Given the description of an element on the screen output the (x, y) to click on. 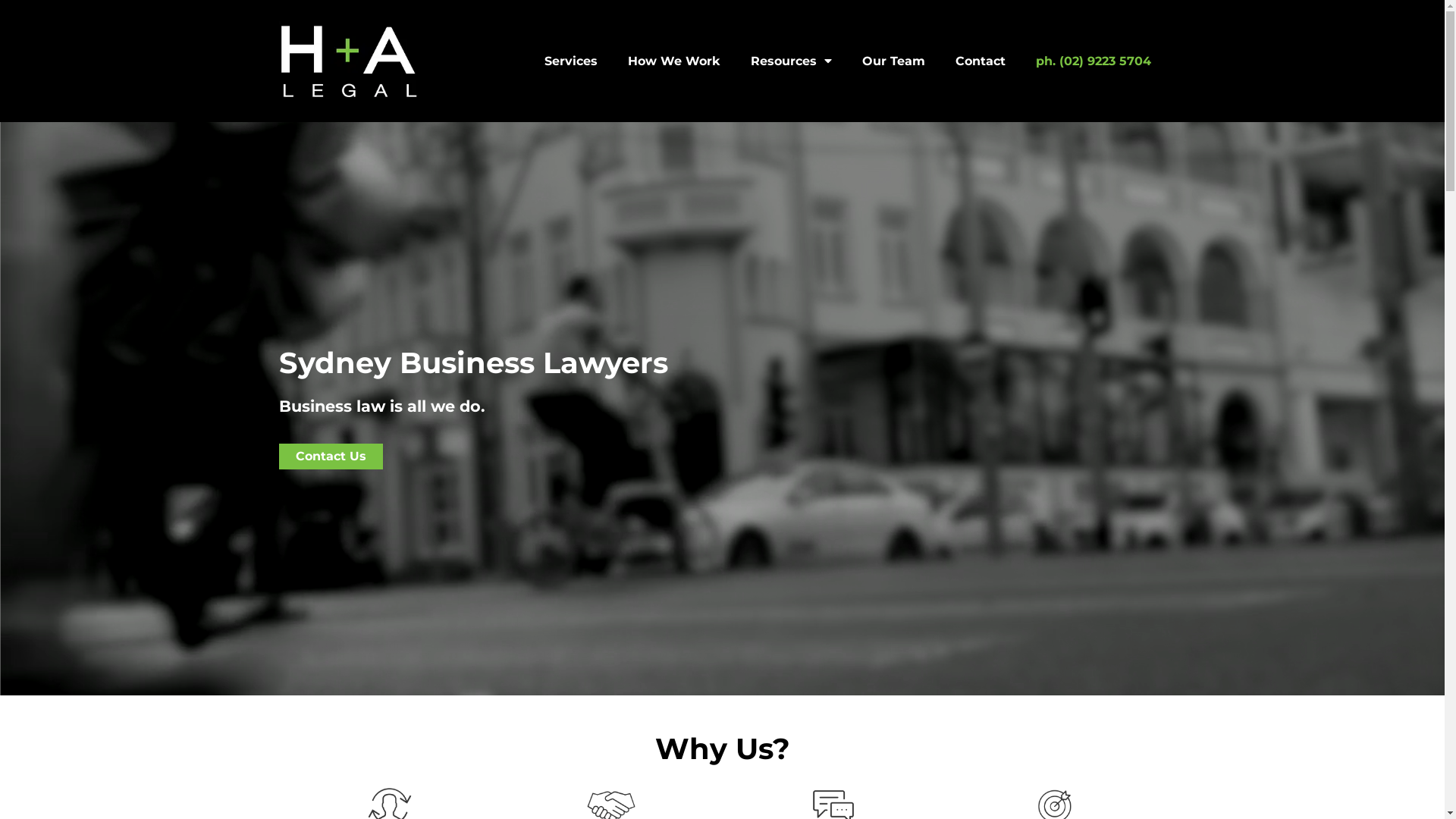
Contact Us Element type: text (330, 456)
How We Work Element type: text (673, 60)
Contact Element type: text (980, 60)
Resources Element type: text (791, 60)
ph. (02) 9223 5704 Element type: text (1093, 60)
Services Element type: text (570, 60)
Our Team Element type: text (892, 60)
